Given the description of an element on the screen output the (x, y) to click on. 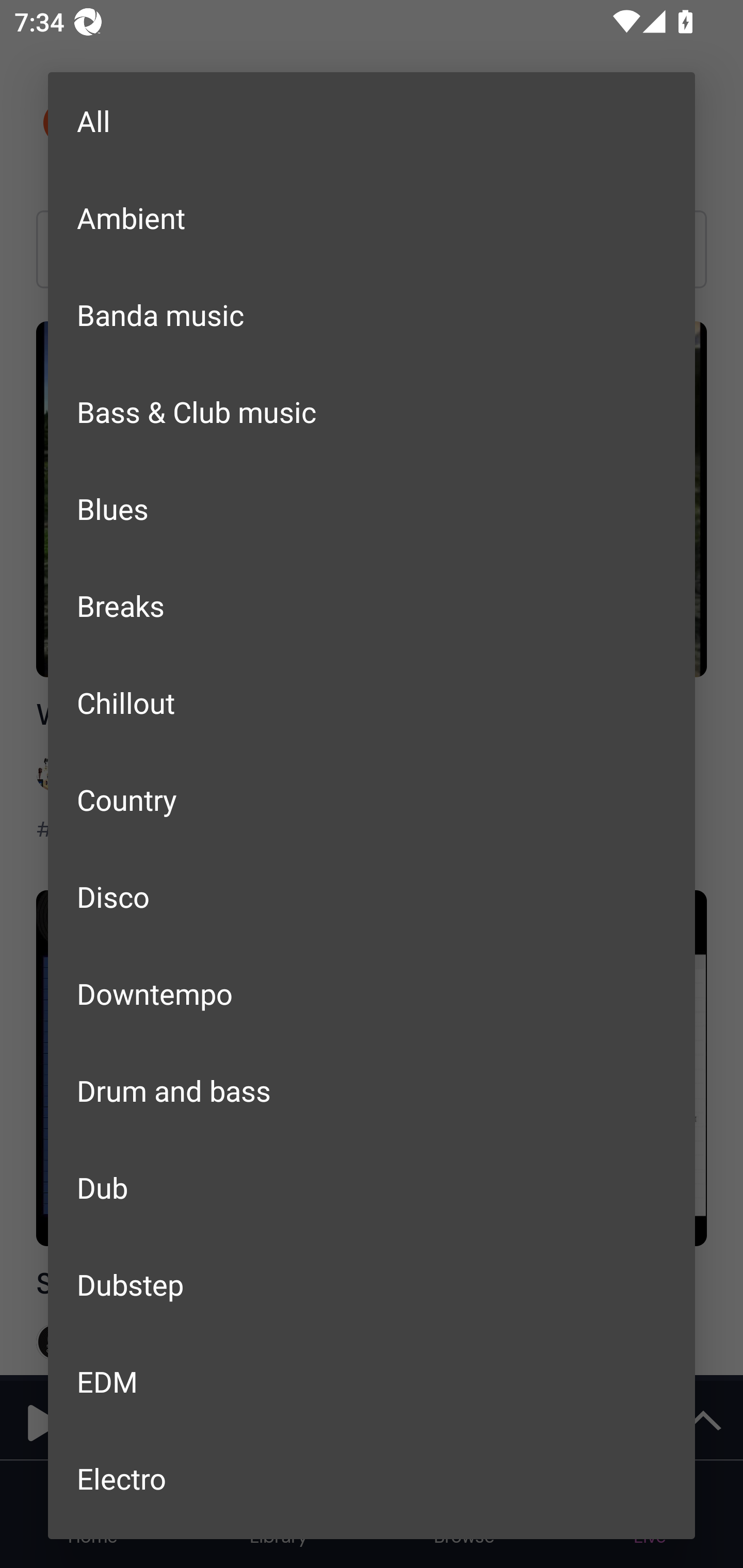
All (371, 120)
Ambient (371, 217)
Banda music (371, 314)
Bass & Club music (371, 411)
Blues (371, 507)
Breaks (371, 604)
Chillout (371, 702)
Country (371, 799)
Disco (371, 896)
Downtempo (371, 993)
Drum and bass (371, 1089)
Dub (371, 1186)
Dubstep (371, 1283)
EDM (371, 1381)
Electro (371, 1478)
